Given the description of an element on the screen output the (x, y) to click on. 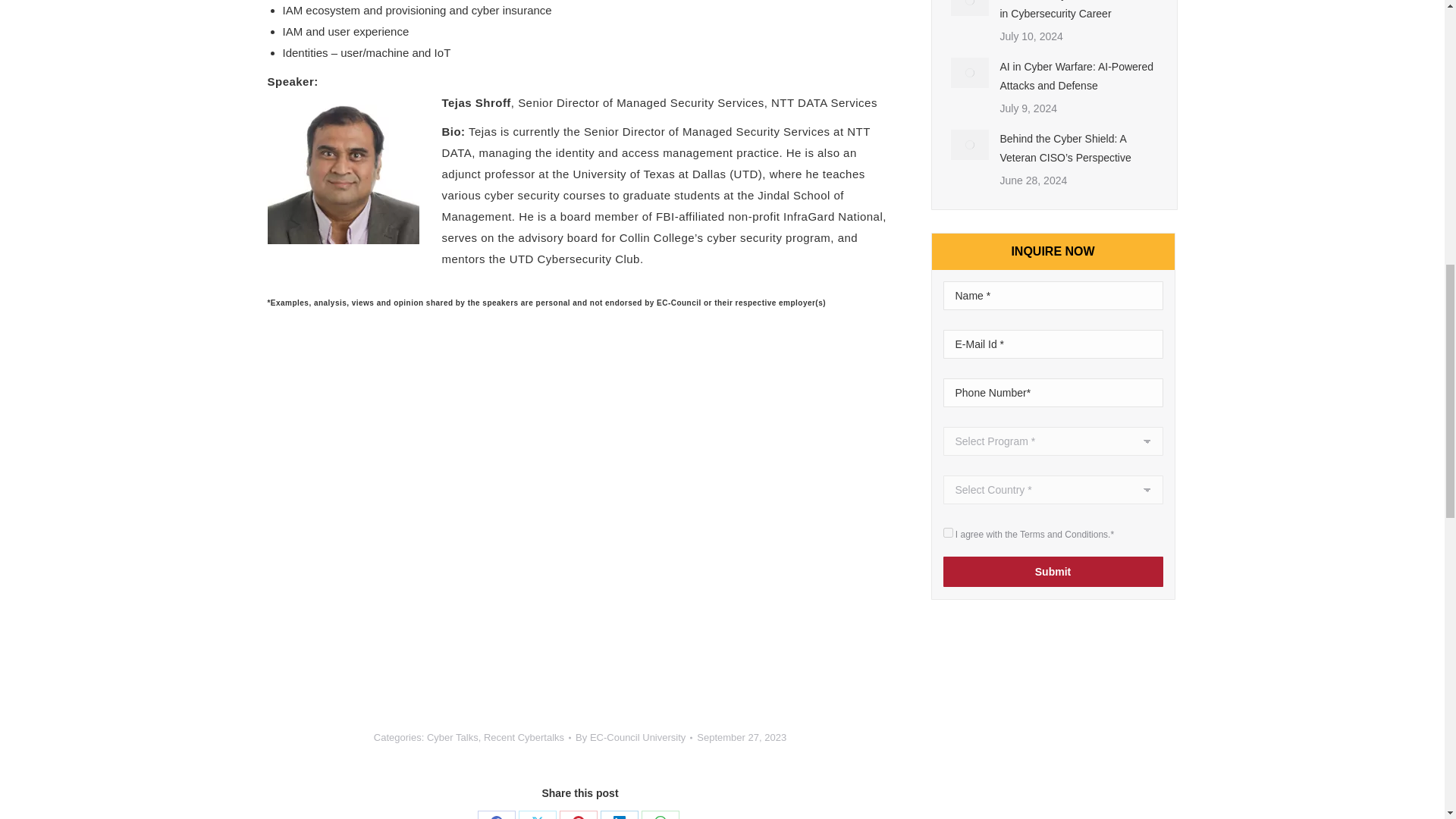
1 (948, 532)
X (537, 814)
Pinterest (577, 814)
View all posts by EC-Council University (634, 737)
Submit (1053, 571)
WhatsApp (660, 814)
10:00 am (741, 737)
Facebook (496, 814)
LinkedIn (619, 814)
